Given the description of an element on the screen output the (x, y) to click on. 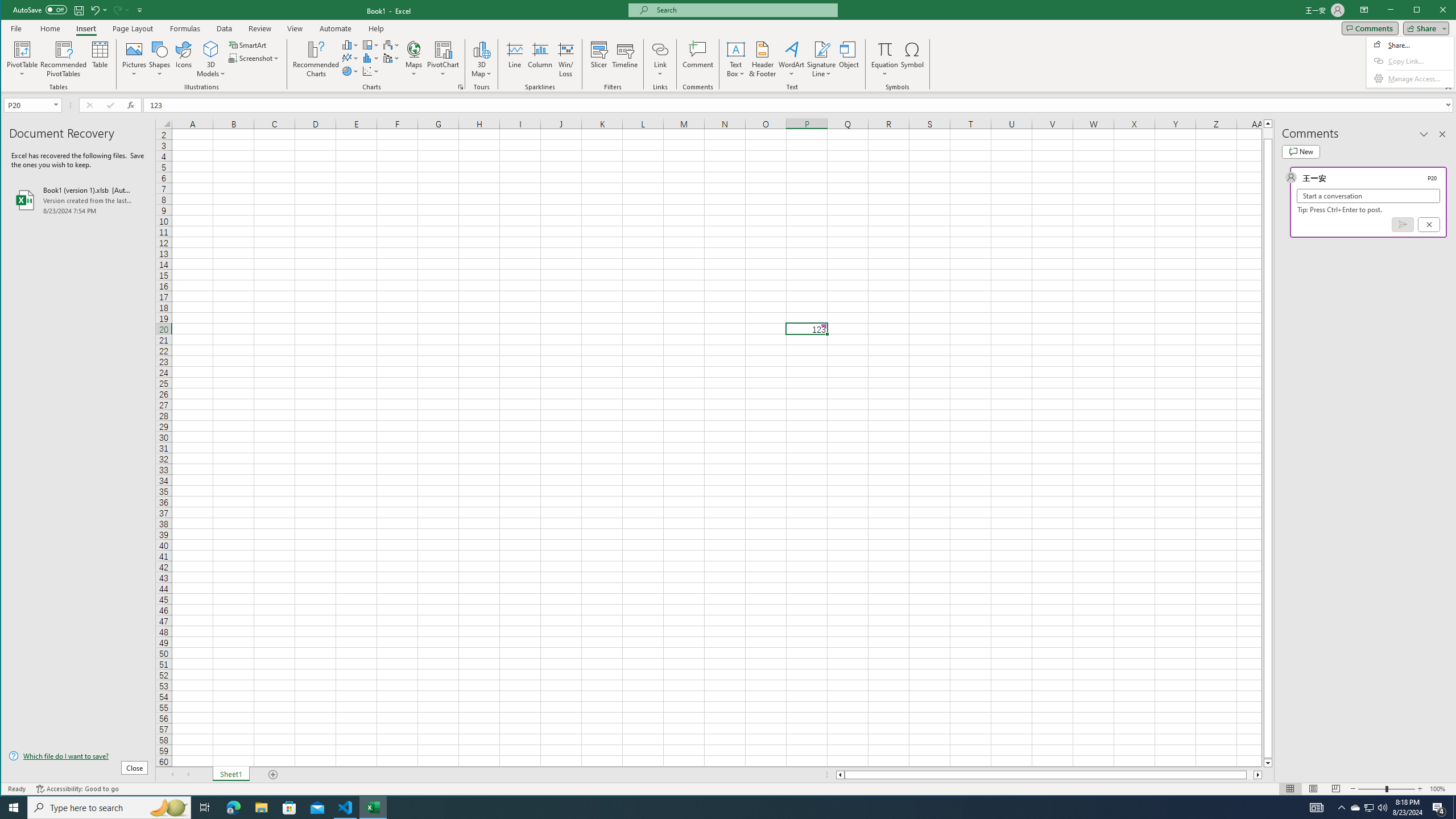
Insert Combo Chart (391, 57)
SmartArt... (248, 44)
Table (100, 59)
File Explorer (261, 807)
Insert Scatter (X, Y) or Bubble Chart (371, 70)
Text Box (735, 59)
Microsoft Store (289, 807)
Insert Pie or Doughnut Chart (350, 70)
